Given the description of an element on the screen output the (x, y) to click on. 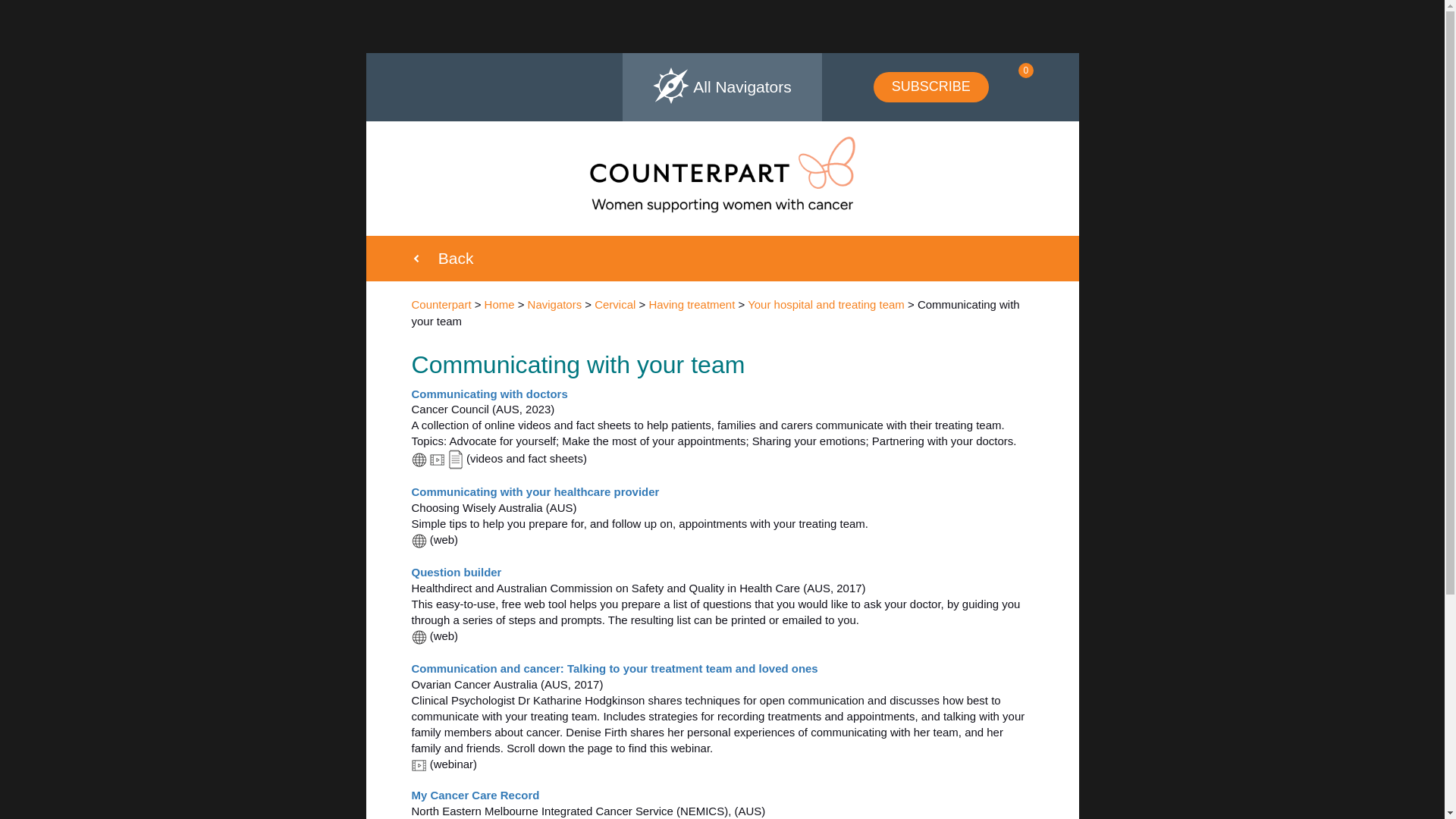
Go to Navigators. (554, 304)
My Cancer Care Record (474, 794)
Question builder (455, 571)
Cervical (614, 304)
Go to Your hospital and treating team. (826, 304)
All Navigators (722, 87)
SUBSCRIBE (930, 87)
Go to Counterpart. (440, 304)
Counterpart (440, 304)
Home (499, 304)
Navigators (554, 304)
Having treatment (691, 304)
0 (1015, 87)
Go to Cervical. (614, 304)
Go to Home. (499, 304)
